Given the description of an element on the screen output the (x, y) to click on. 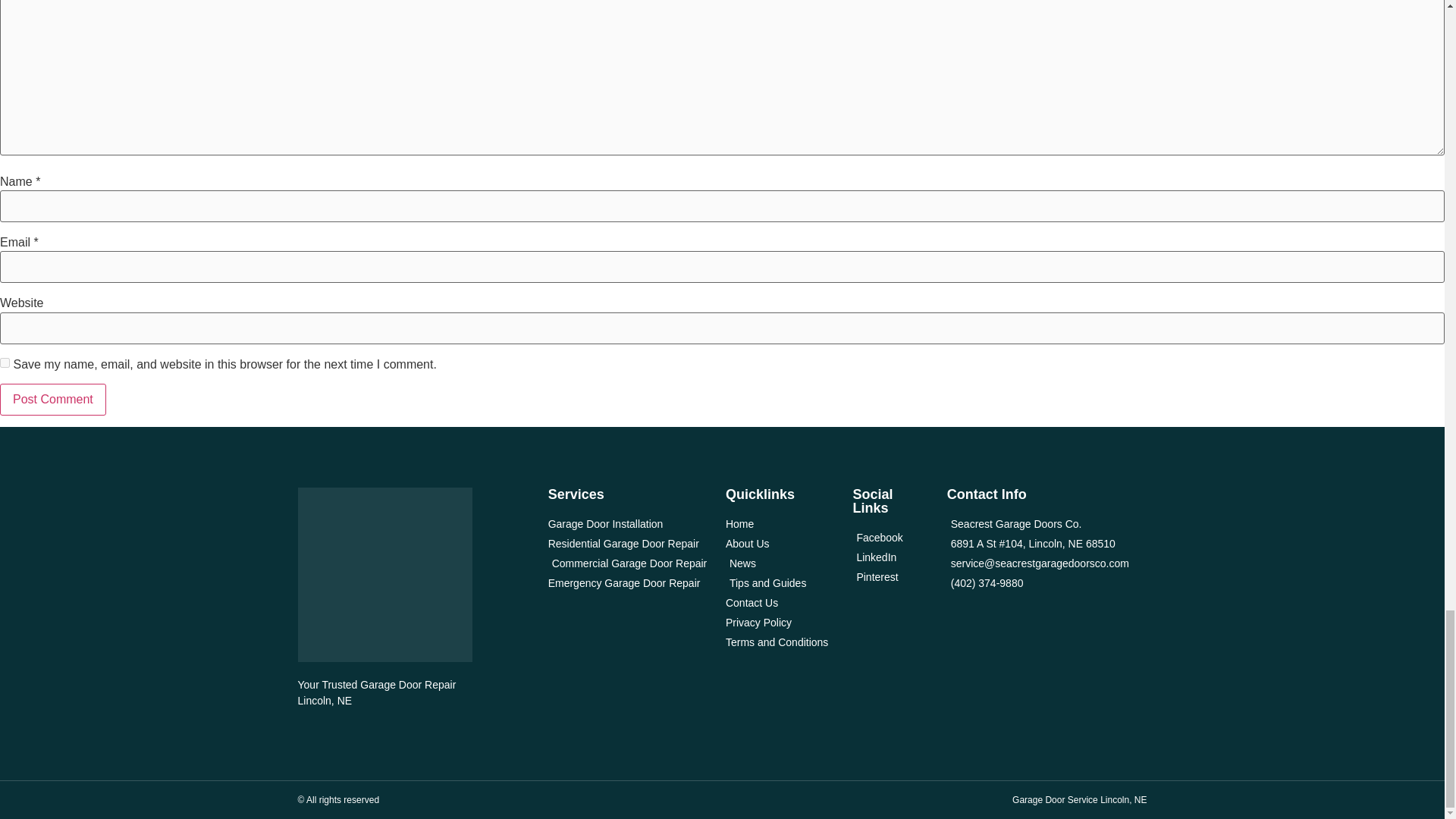
yes (5, 362)
Post Comment (53, 399)
